Given the description of an element on the screen output the (x, y) to click on. 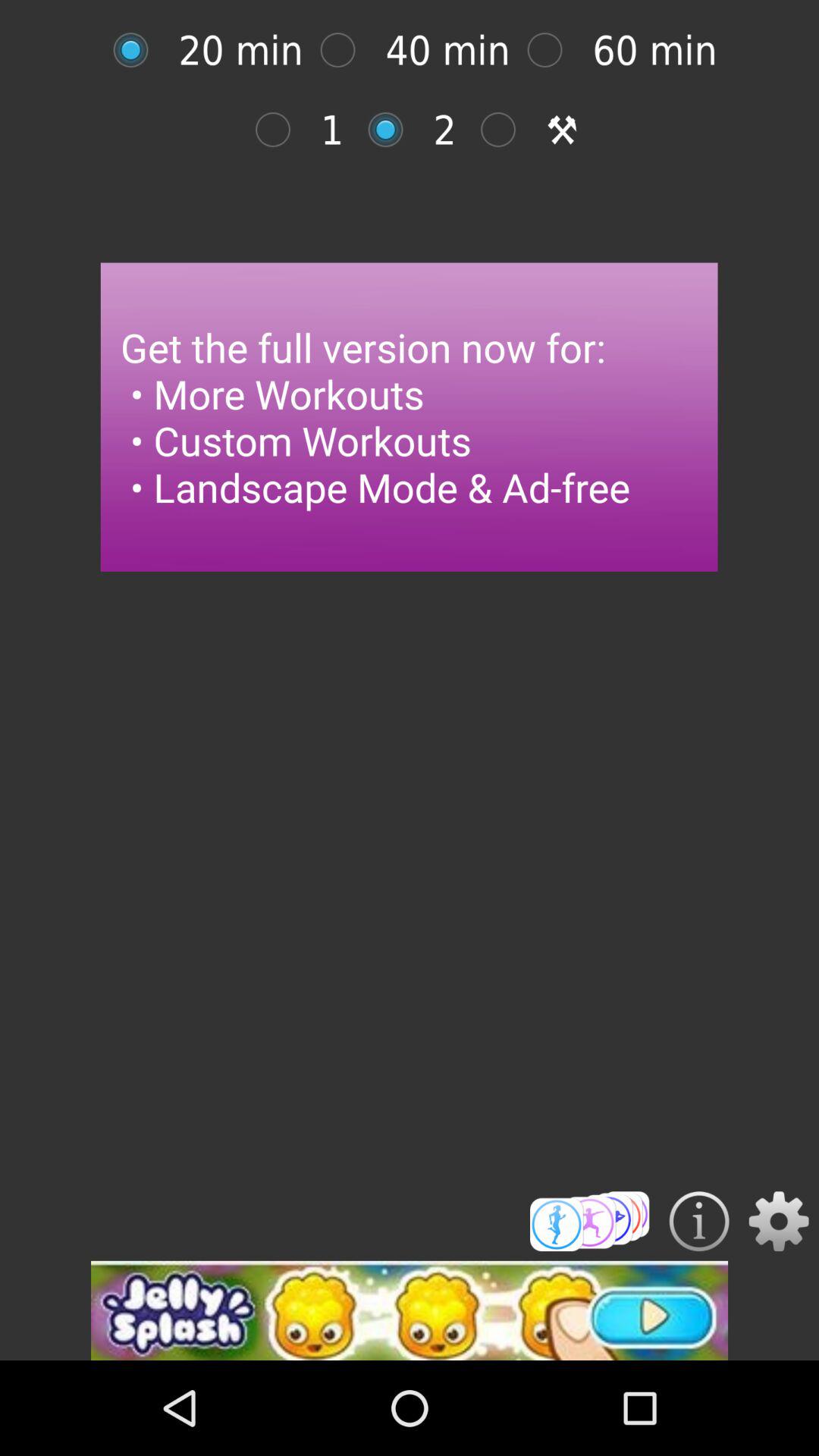
setting page (138, 49)
